Given the description of an element on the screen output the (x, y) to click on. 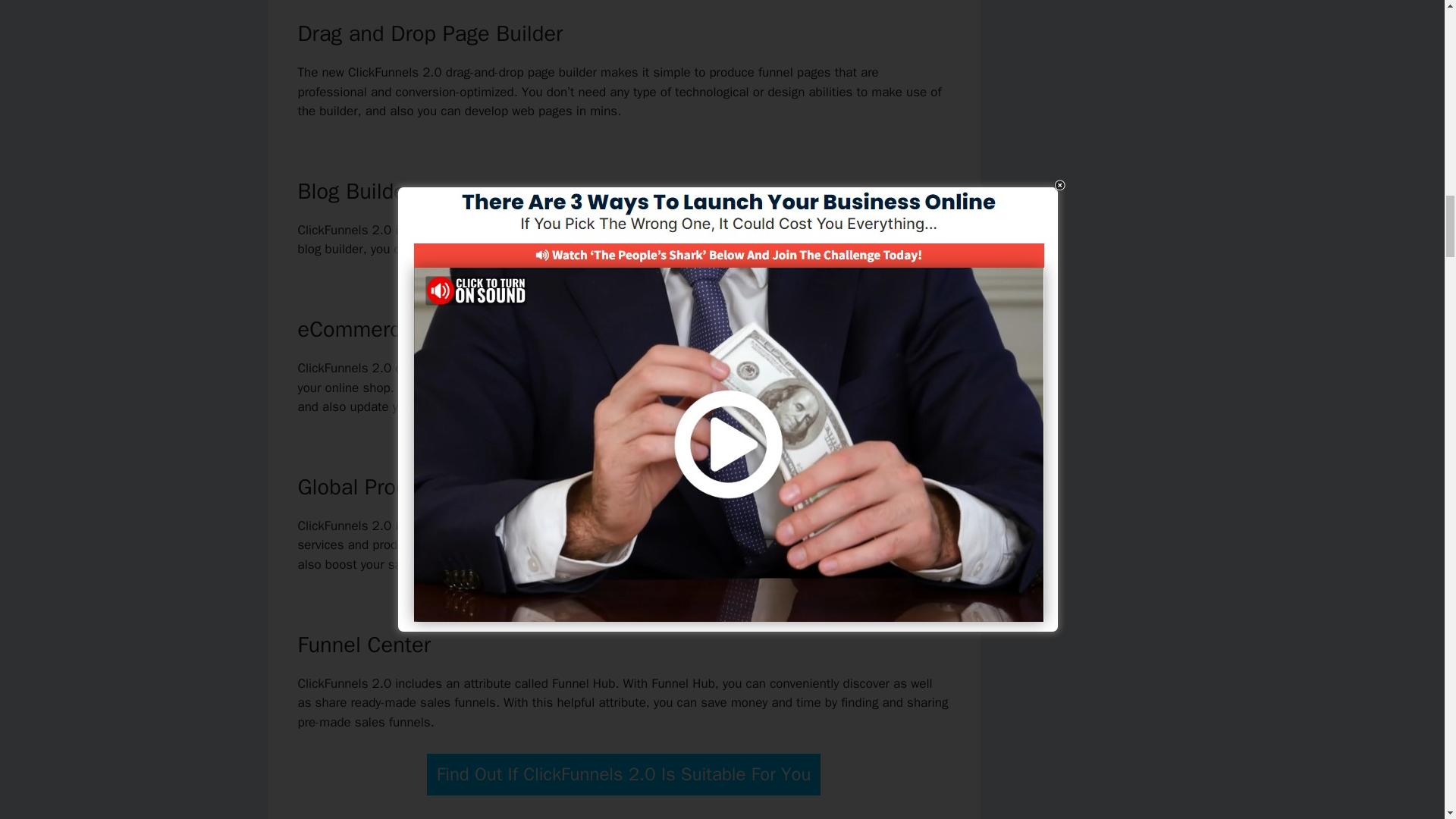
Find Out If ClickFunnels 2.0 Is Suitable For You (623, 774)
